Given the description of an element on the screen output the (x, y) to click on. 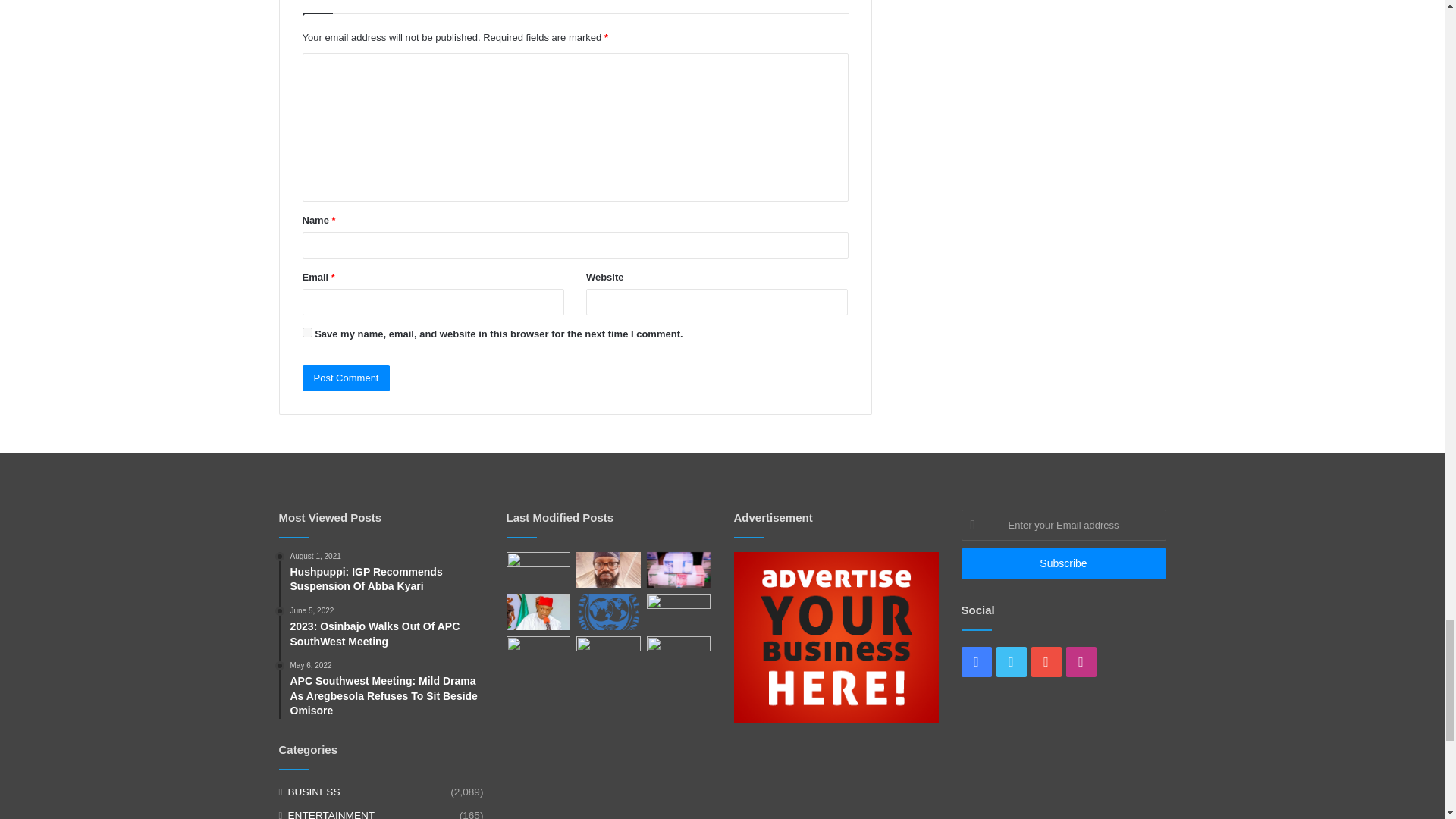
yes (306, 332)
Subscribe (1063, 563)
Post Comment (345, 377)
